Given the description of an element on the screen output the (x, y) to click on. 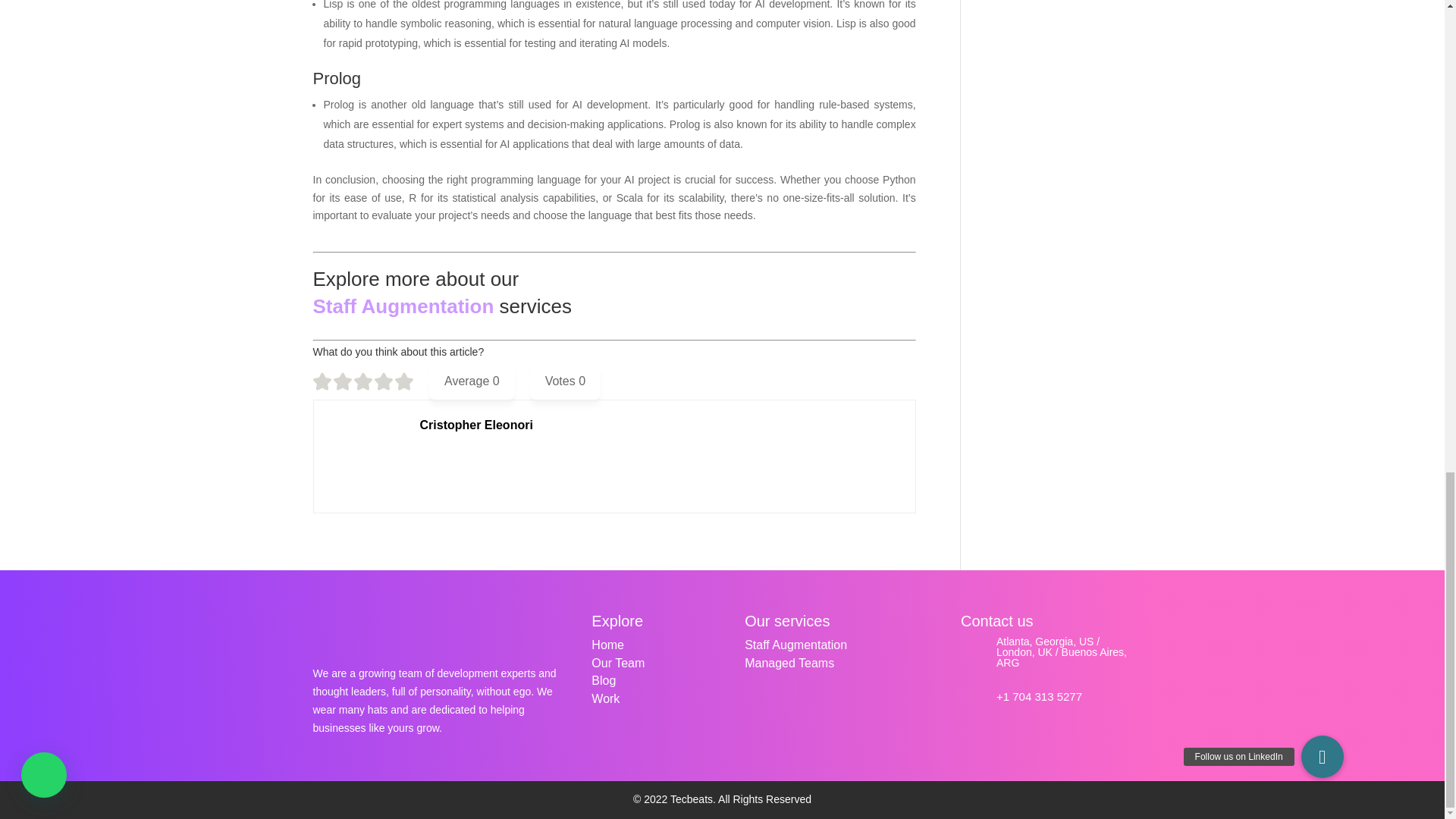
Staff Augmentation (795, 644)
Work (605, 698)
Cristopher Eleonori (476, 424)
Home (607, 644)
Our Team (618, 662)
Managed Teams (789, 662)
Staff Augmentation (403, 305)
